Given the description of an element on the screen output the (x, y) to click on. 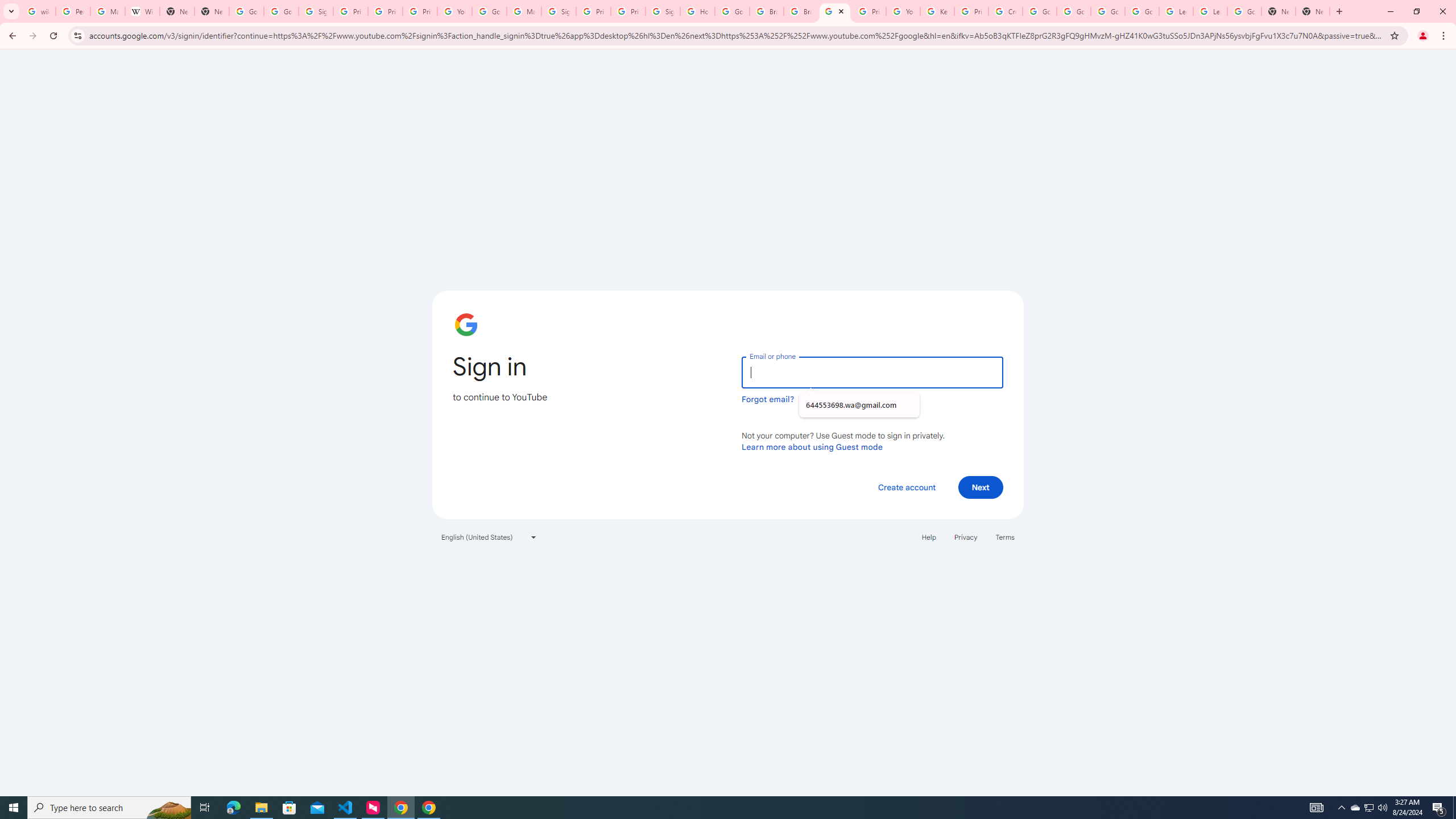
YouTube (903, 11)
Learn more about using Guest mode (812, 446)
Wikipedia:Edit requests - Wikipedia (141, 11)
Google Account Help (1073, 11)
Manage your Location History - Google Search Help (107, 11)
YouTube (454, 11)
